Given the description of an element on the screen output the (x, y) to click on. 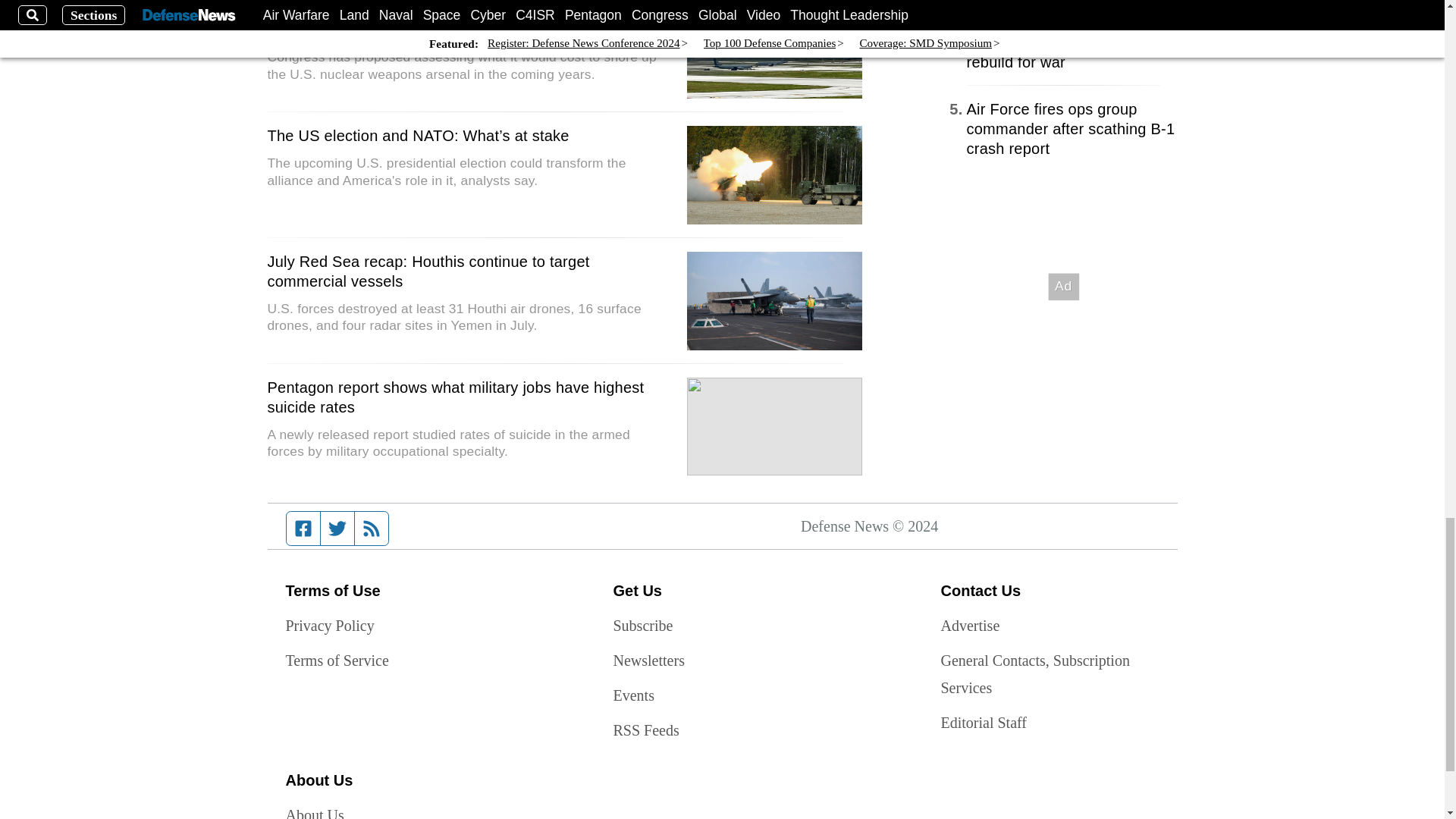
Facebook page (303, 528)
Twitter feed (336, 528)
RSS feed (371, 528)
